Given the description of an element on the screen output the (x, y) to click on. 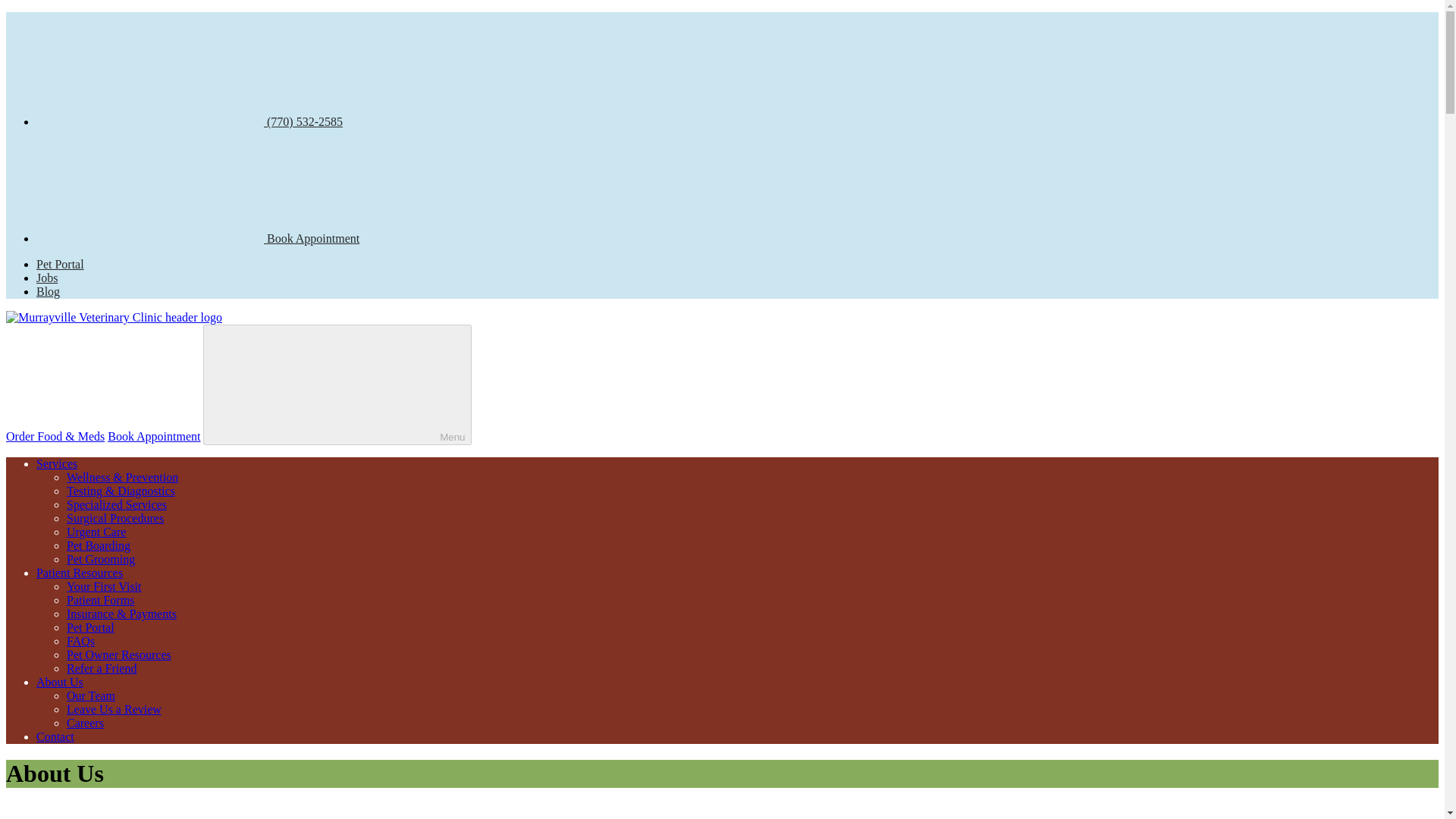
Pet Grooming (100, 558)
Pet Portal (90, 626)
Our Team (90, 695)
Refer a Friend (101, 667)
Pet Owner Resources (118, 654)
About Us (59, 681)
FAQs (80, 640)
Surgical Procedures (114, 517)
Jobs (47, 277)
Pet Boarding (98, 545)
